Given the description of an element on the screen output the (x, y) to click on. 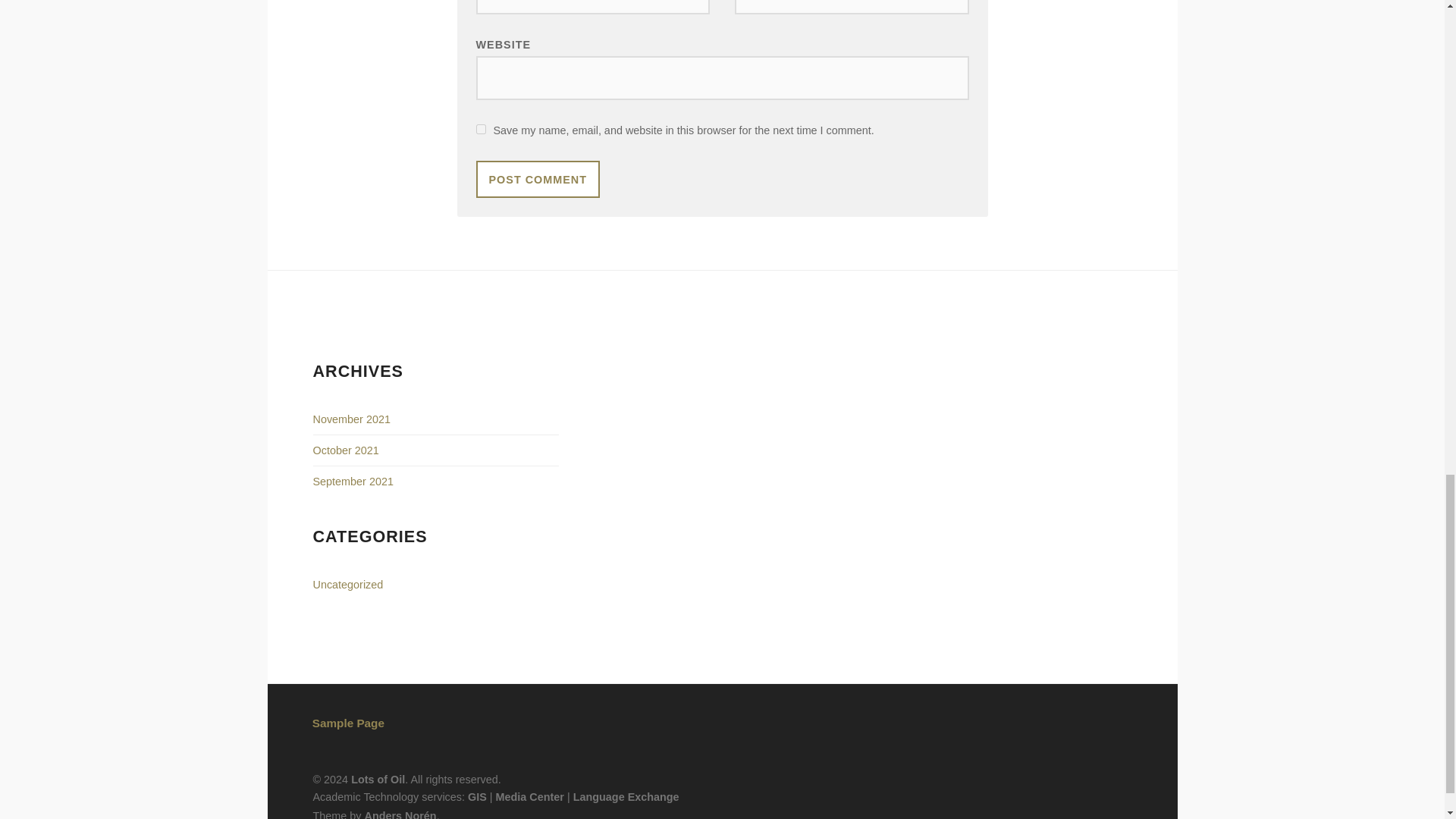
October 2021 (345, 450)
Post Comment (537, 179)
yes (481, 129)
Sample Page (348, 722)
Post Comment (537, 179)
September 2021 (353, 481)
Lots of Oil (377, 779)
November 2021 (351, 419)
Uncategorized (347, 584)
Language Exchange (626, 797)
